Given the description of an element on the screen output the (x, y) to click on. 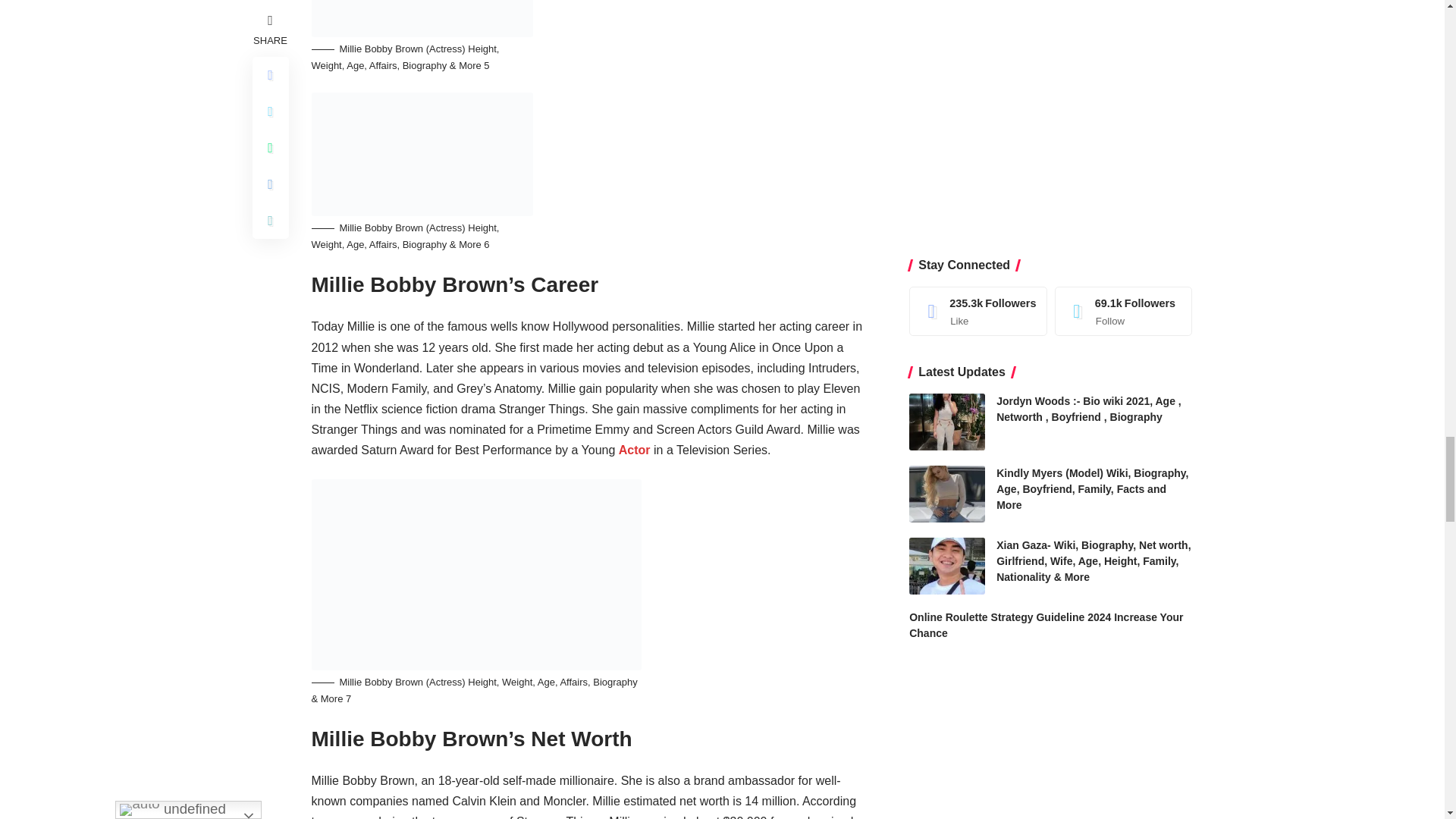
Actor (634, 449)
